Given the description of an element on the screen output the (x, y) to click on. 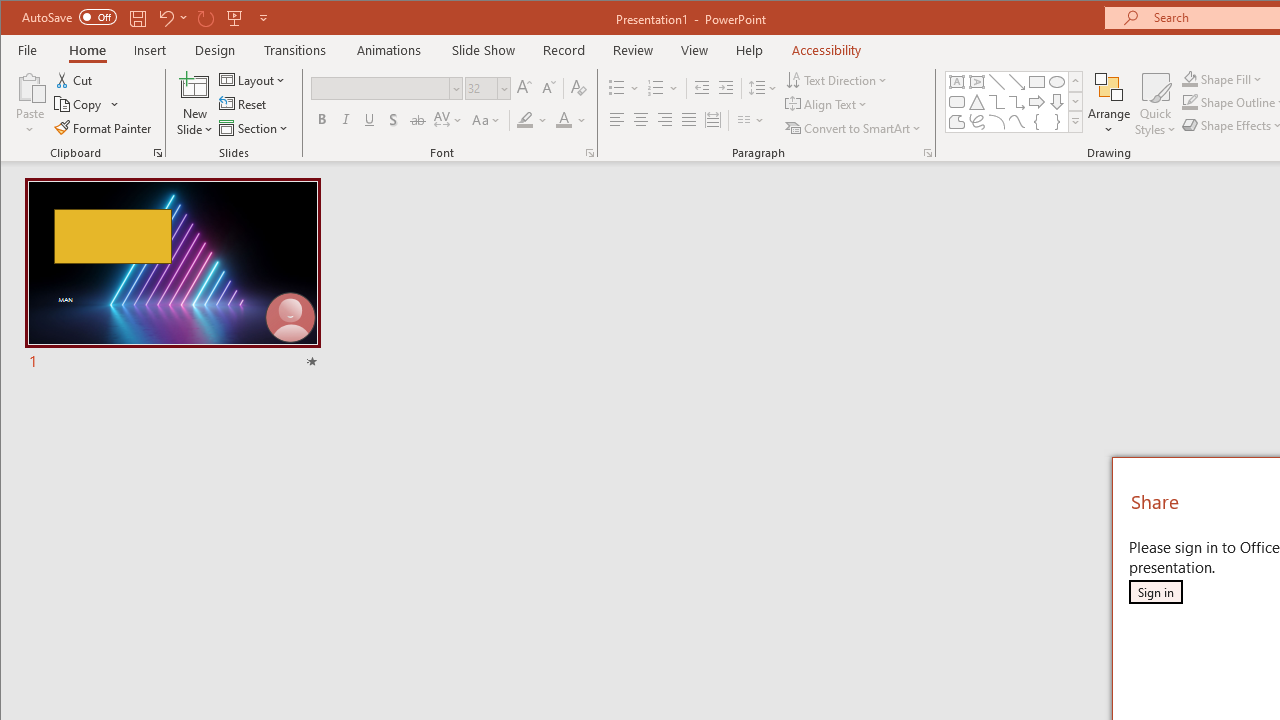
Office Clipboard... (157, 152)
Character Spacing (449, 119)
Sign in (1155, 592)
Convert to SmartArt (855, 127)
Distributed (712, 119)
Text Box (956, 82)
Align Right (664, 119)
